Given the description of an element on the screen output the (x, y) to click on. 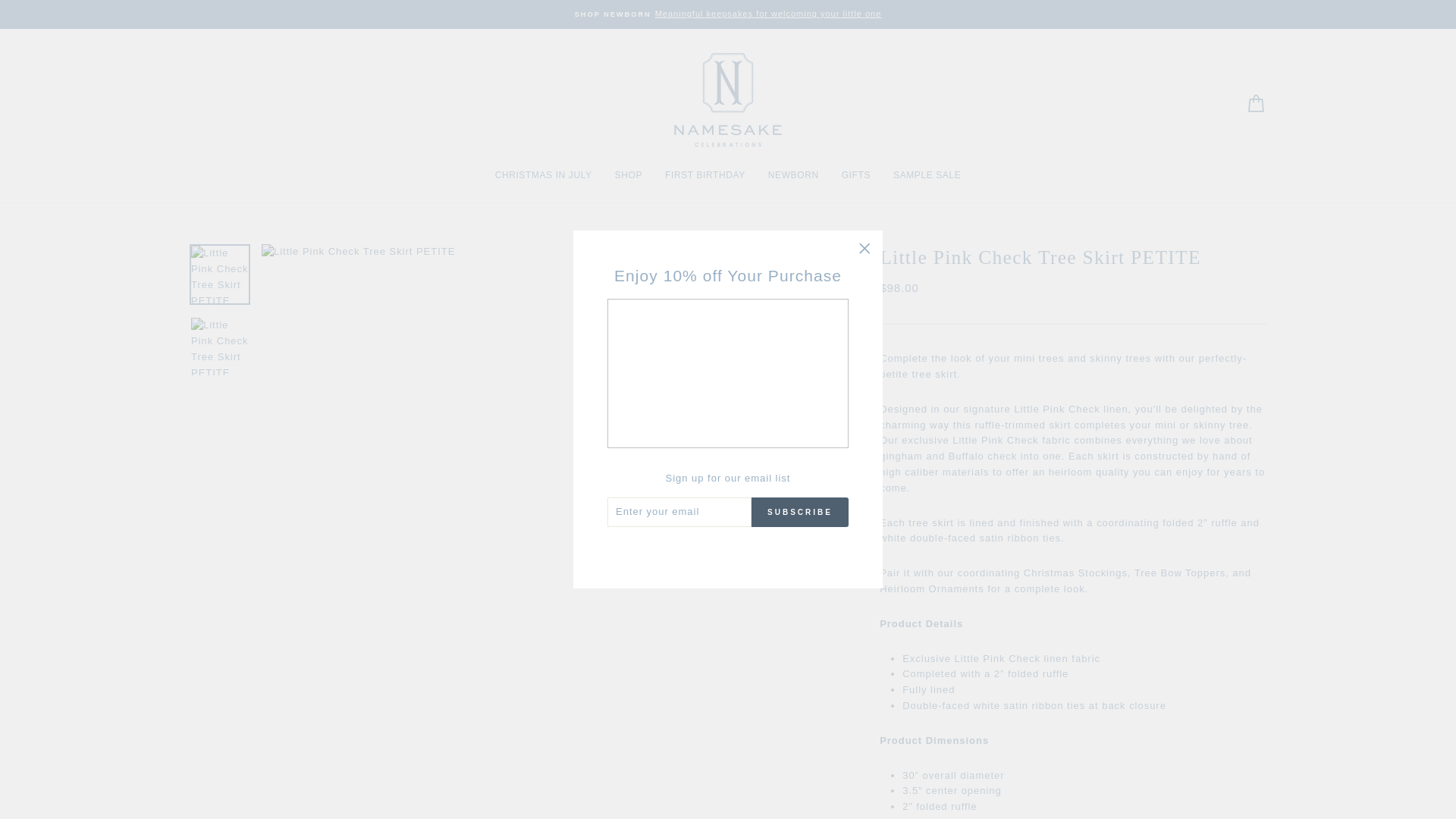
CART (1255, 103)
